Given the description of an element on the screen output the (x, y) to click on. 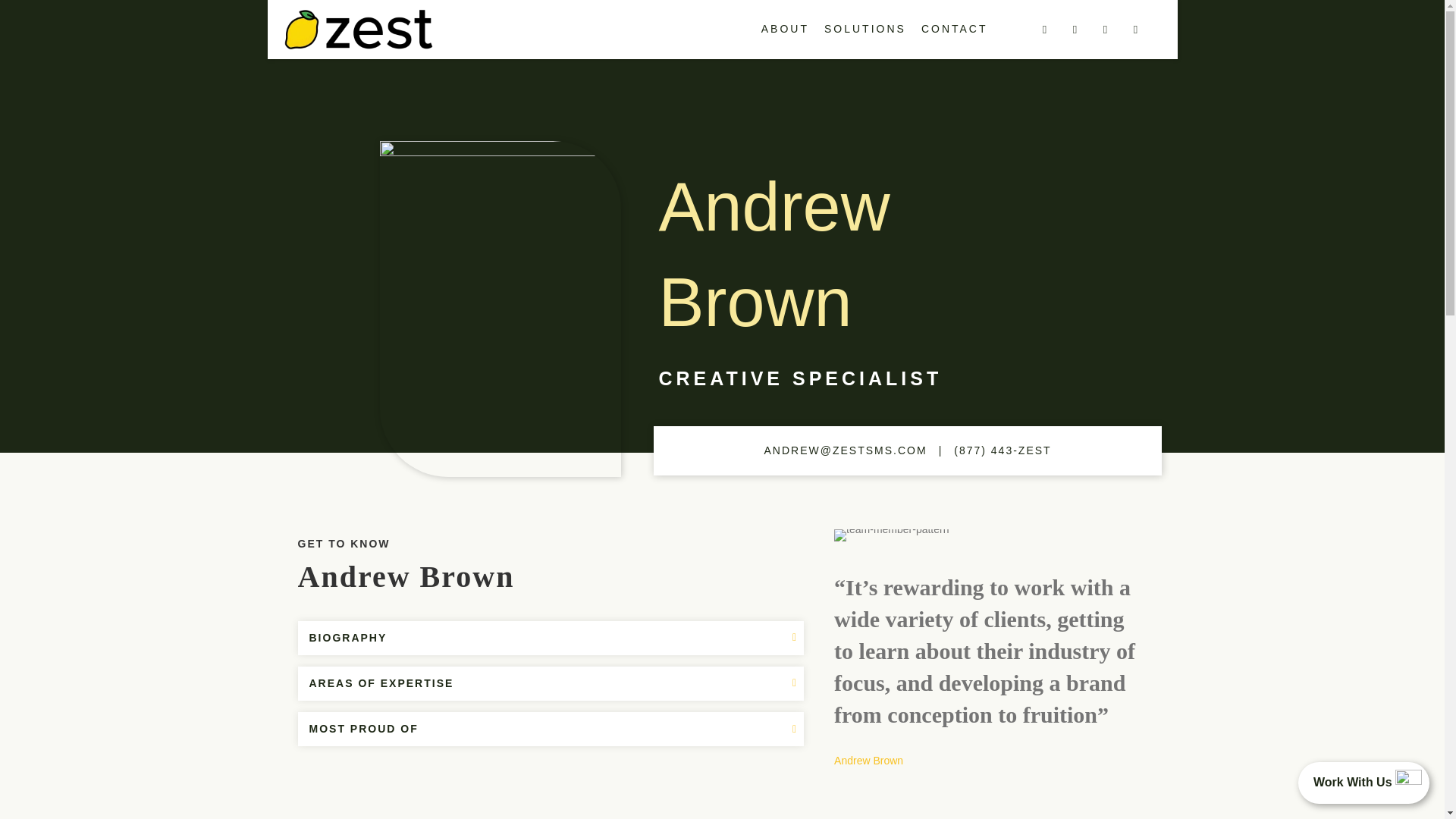
LinkedIn (1074, 29)
Work With Us (1363, 782)
CONTACT (954, 28)
team-member-pattern (891, 535)
ABOUT (785, 28)
Facebook (1043, 29)
YouTube (1135, 29)
SOLUTIONS (865, 28)
Instagram (1104, 29)
